Given the description of an element on the screen output the (x, y) to click on. 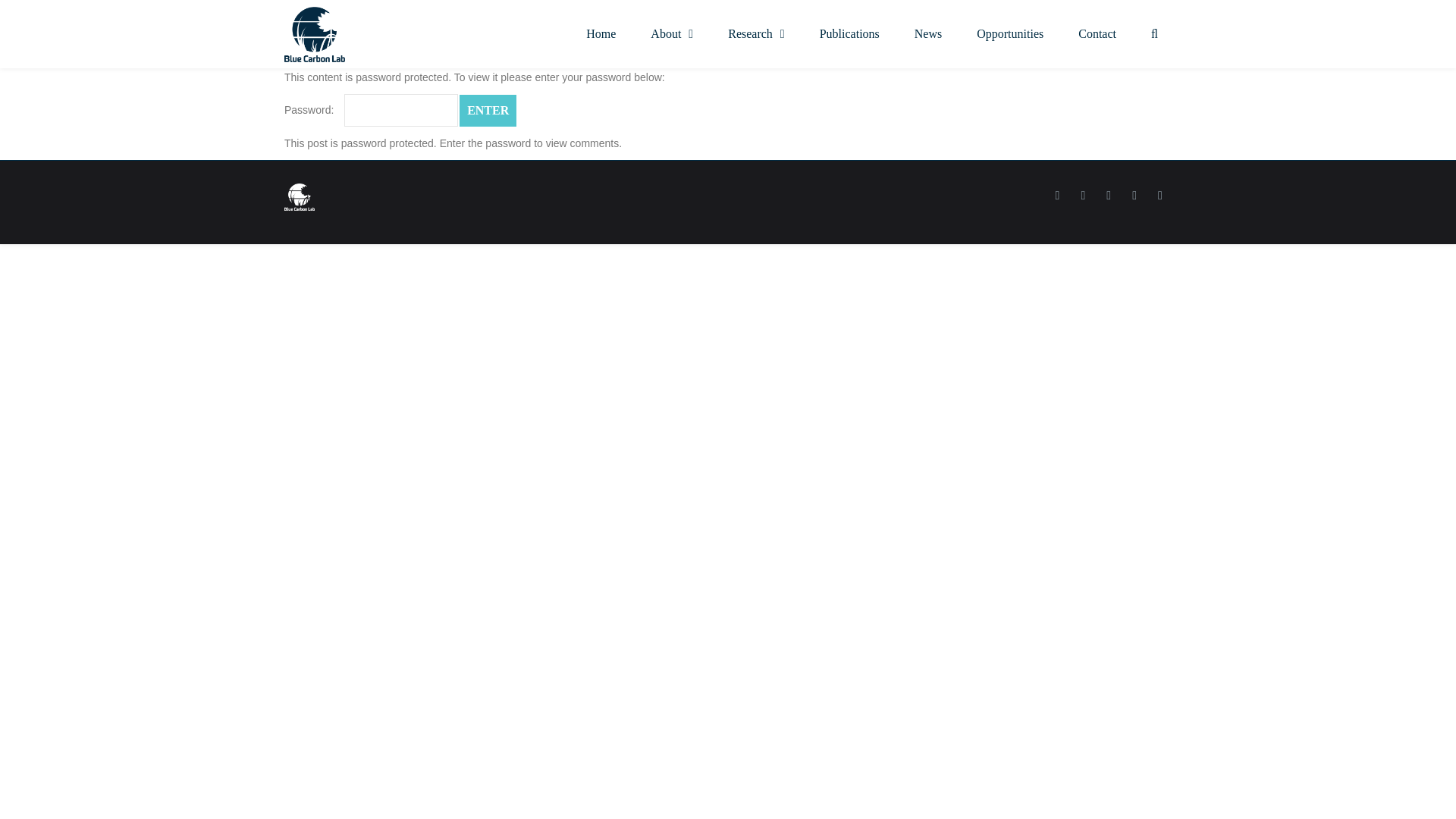
Research (756, 33)
Blue Carbon Lab (314, 34)
About (671, 33)
Contact (1097, 33)
Opportunities (1010, 33)
News (927, 33)
Home (601, 33)
Enter (488, 110)
Publications (849, 33)
